Given the description of an element on the screen output the (x, y) to click on. 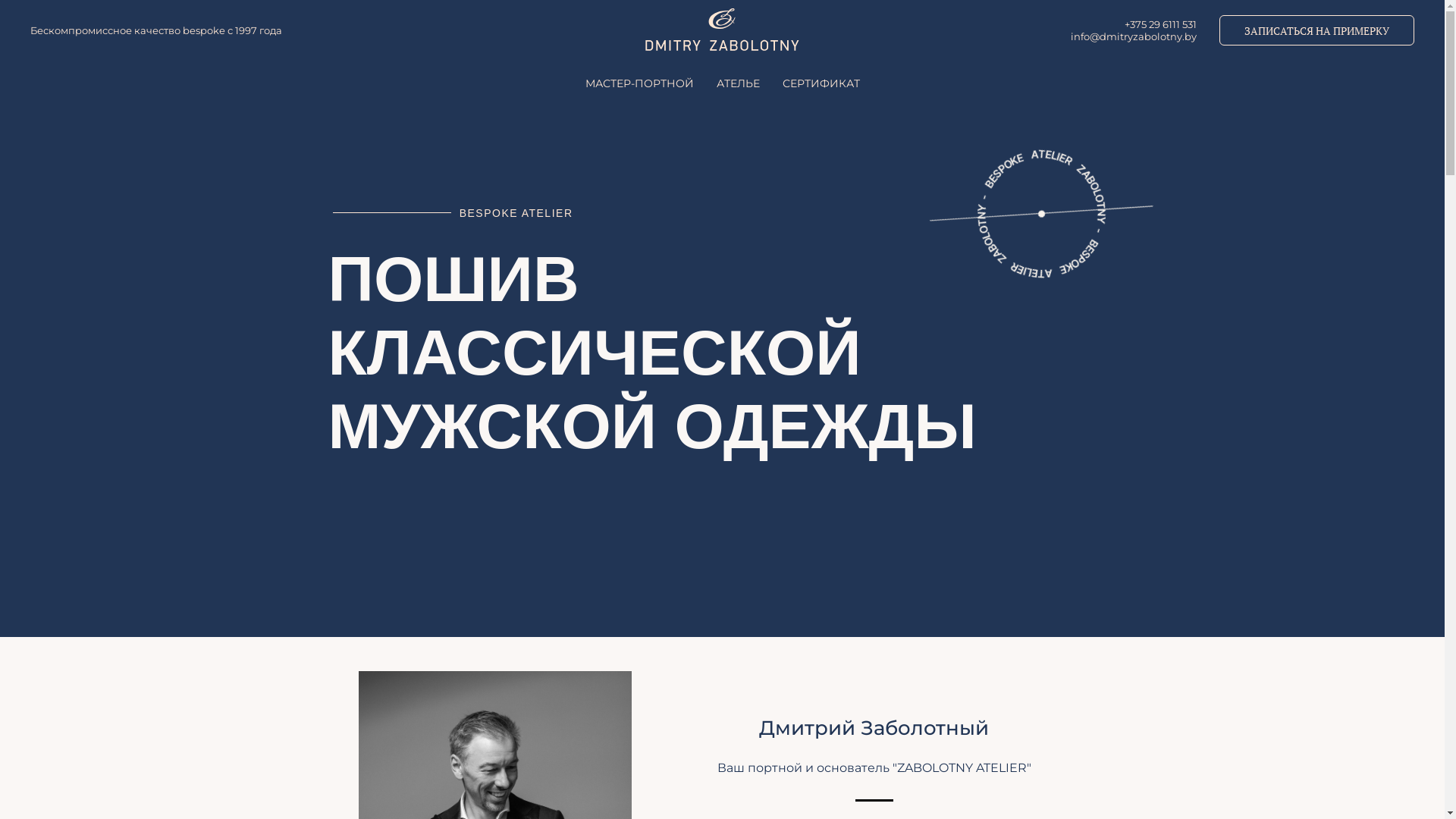
+375 29 6111 531 Element type: text (1160, 24)
